Given the description of an element on the screen output the (x, y) to click on. 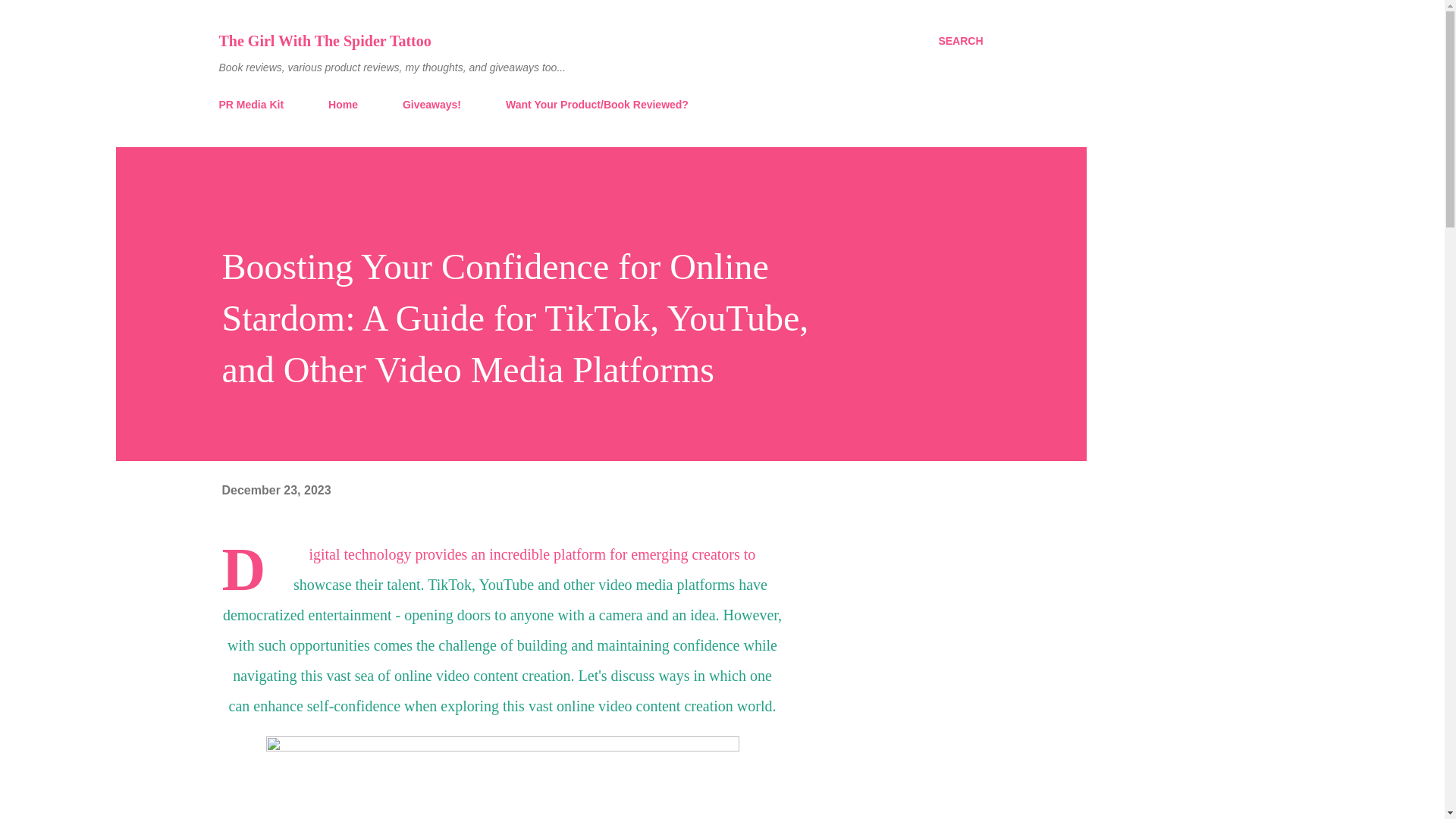
The Girl With The Spider Tattoo (324, 40)
December 23, 2023 (275, 490)
permanent link (275, 490)
PR Media Kit (255, 104)
Giveaways! (431, 104)
Home (342, 104)
SEARCH (959, 40)
